Given the description of an element on the screen output the (x, y) to click on. 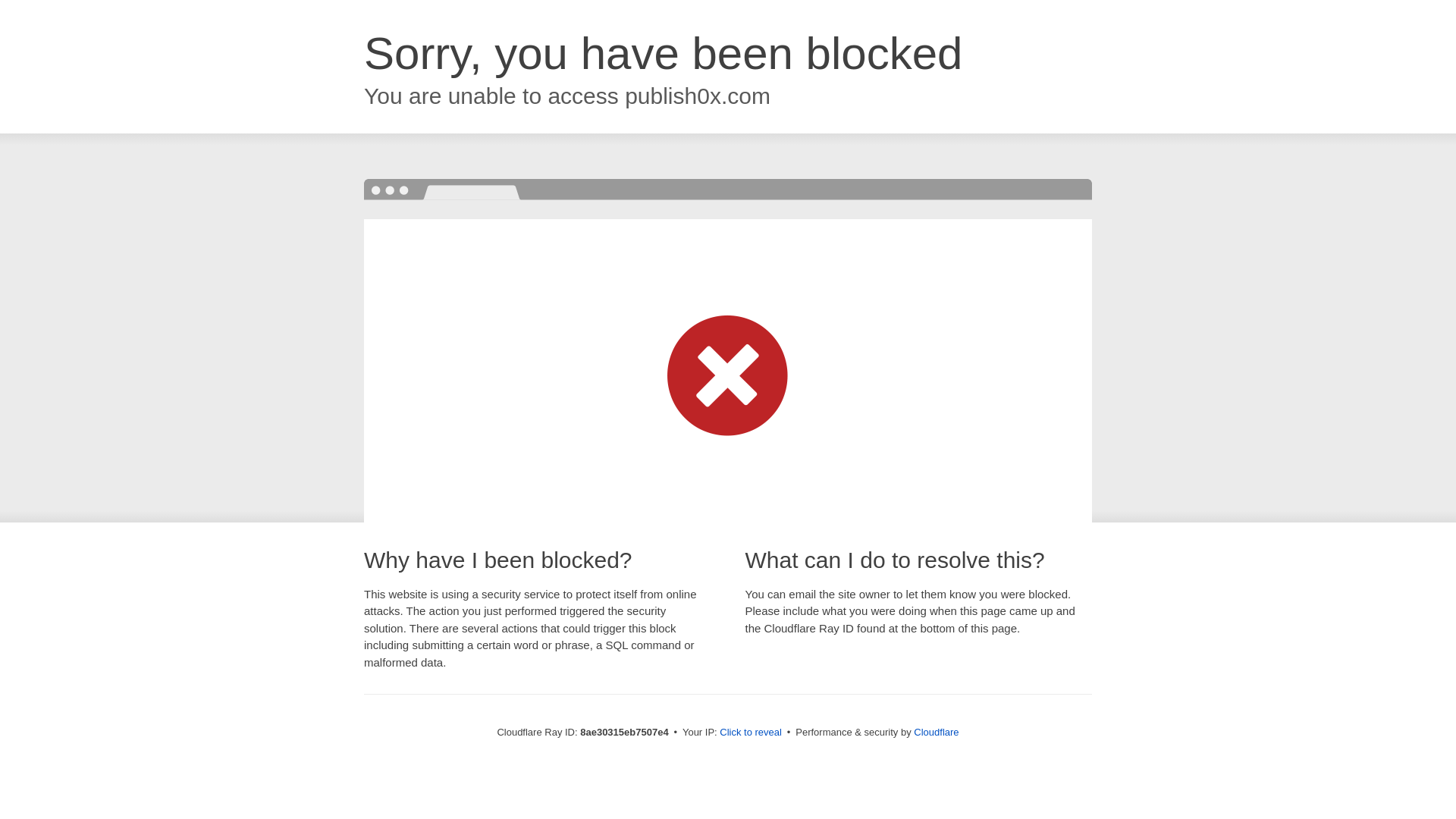
Cloudflare (936, 731)
Click to reveal (750, 732)
